Given the description of an element on the screen output the (x, y) to click on. 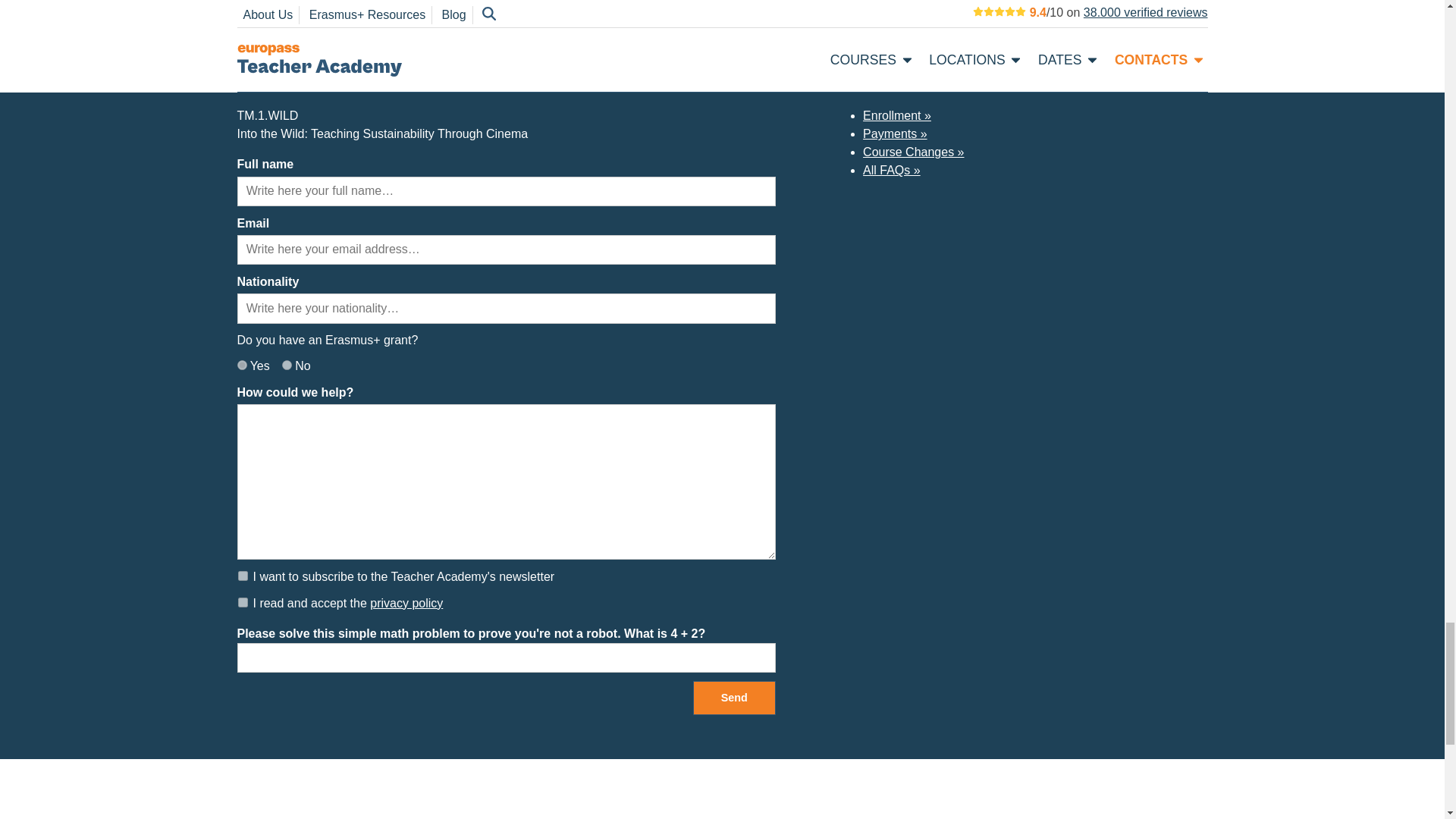
No (287, 365)
1 (242, 575)
1 (242, 602)
Send (734, 697)
Yes (240, 365)
